Given the description of an element on the screen output the (x, y) to click on. 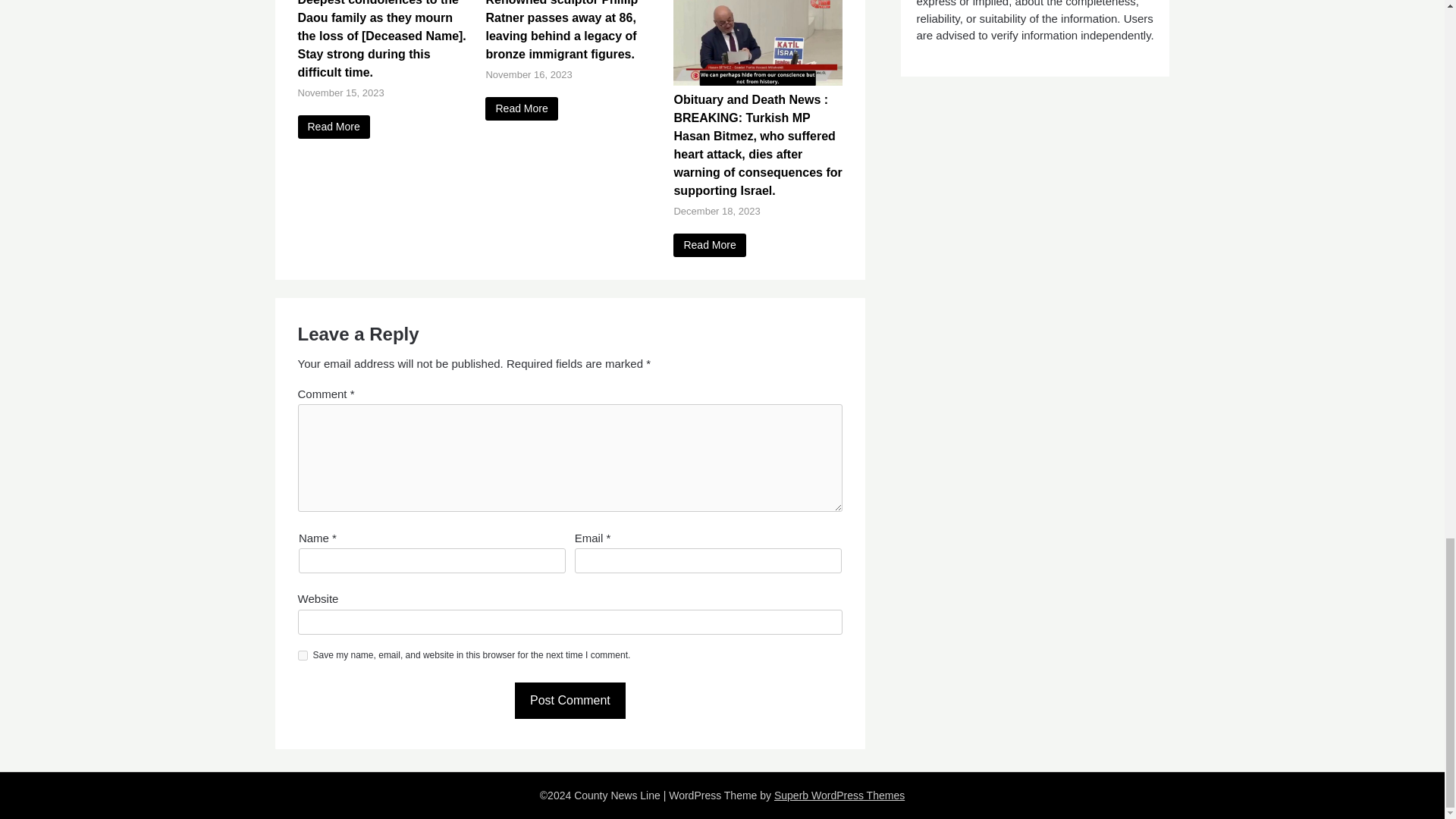
Post Comment (570, 700)
Read More (520, 108)
Read More (708, 245)
Post Comment (570, 700)
Read More (333, 126)
yes (302, 655)
